Given the description of an element on the screen output the (x, y) to click on. 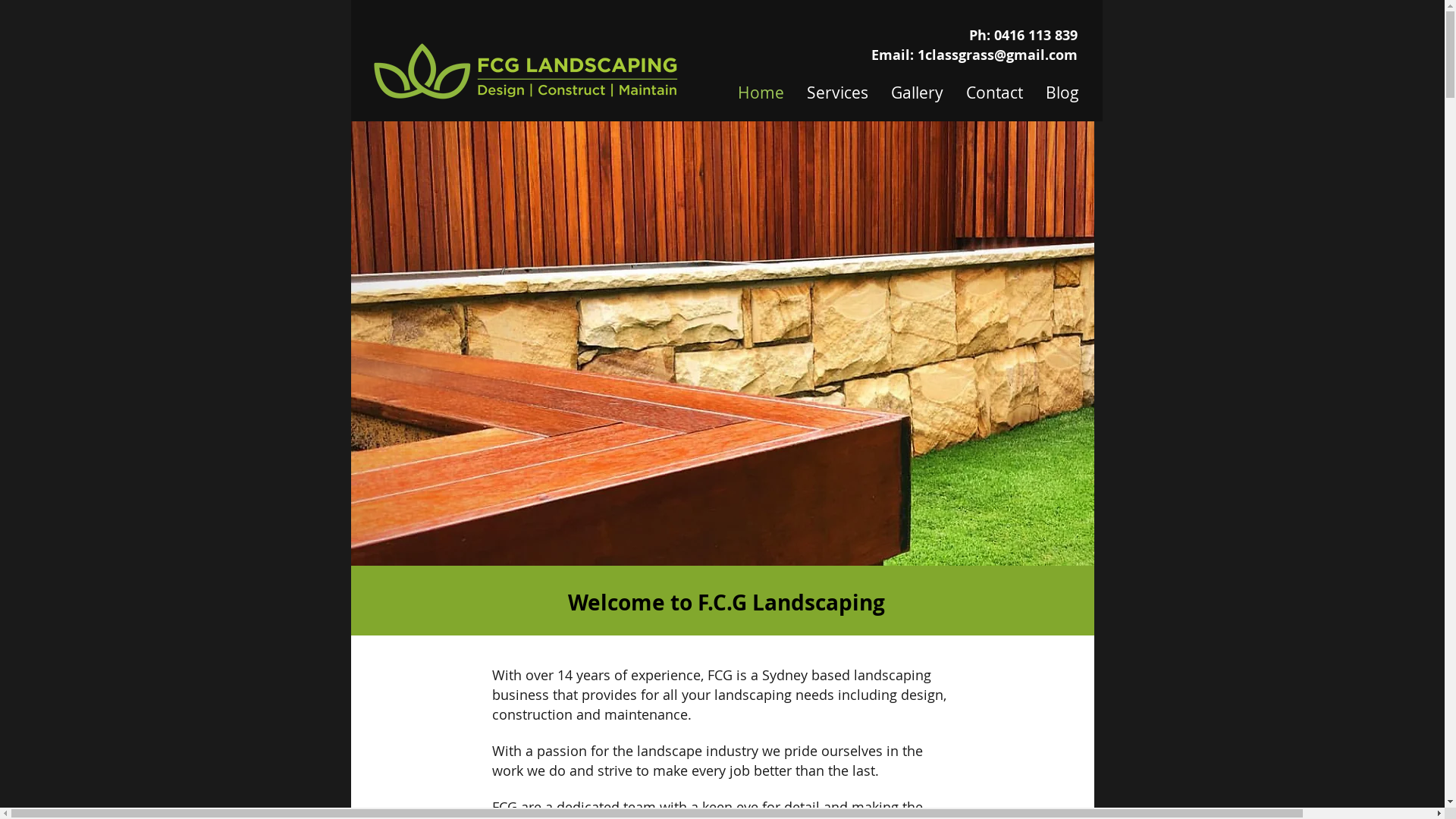
Gallery Element type: text (916, 89)
Blog Element type: text (1062, 89)
Contact Element type: text (993, 89)
1classgrass@gmail.com Element type: text (997, 54)
Services Element type: text (836, 89)
Home Element type: text (760, 89)
